Given the description of an element on the screen output the (x, y) to click on. 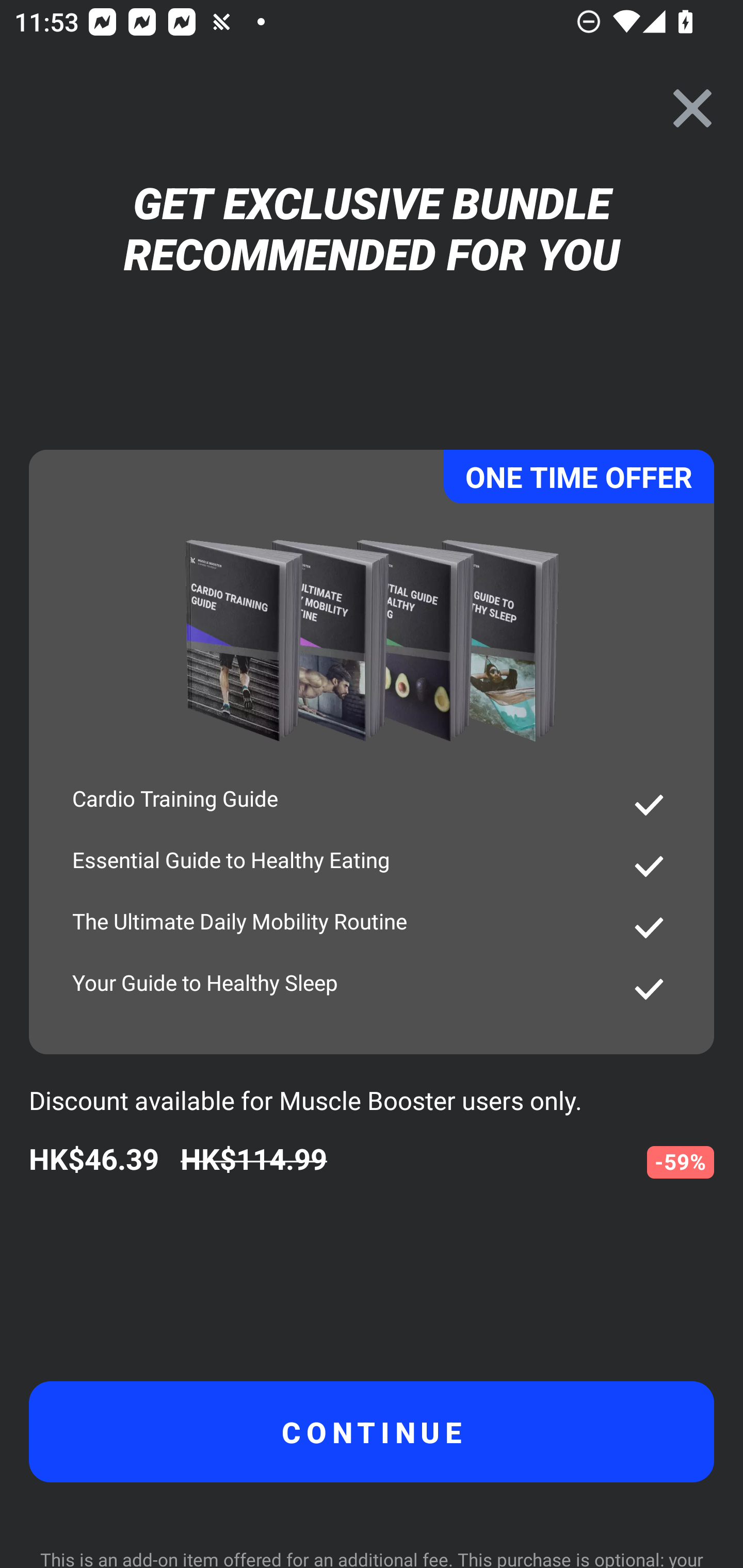
CONTINUE (371, 1431)
